Given the description of an element on the screen output the (x, y) to click on. 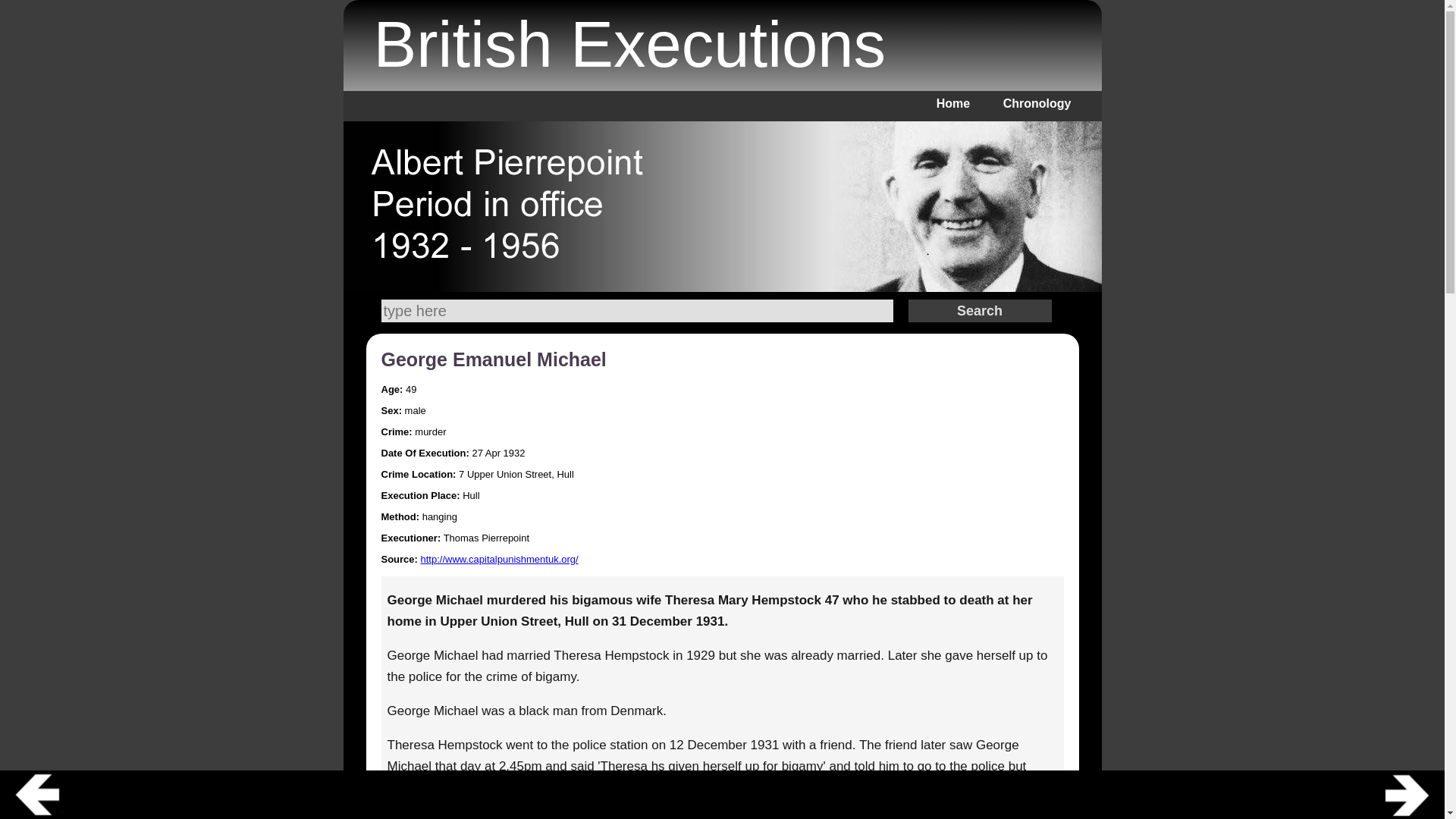
Search (979, 310)
7 Upper Union Street, Hull (515, 473)
Home (952, 103)
George Emanuel Michael (492, 359)
Search (979, 310)
Search (636, 310)
Chronology (1037, 103)
